Given the description of an element on the screen output the (x, y) to click on. 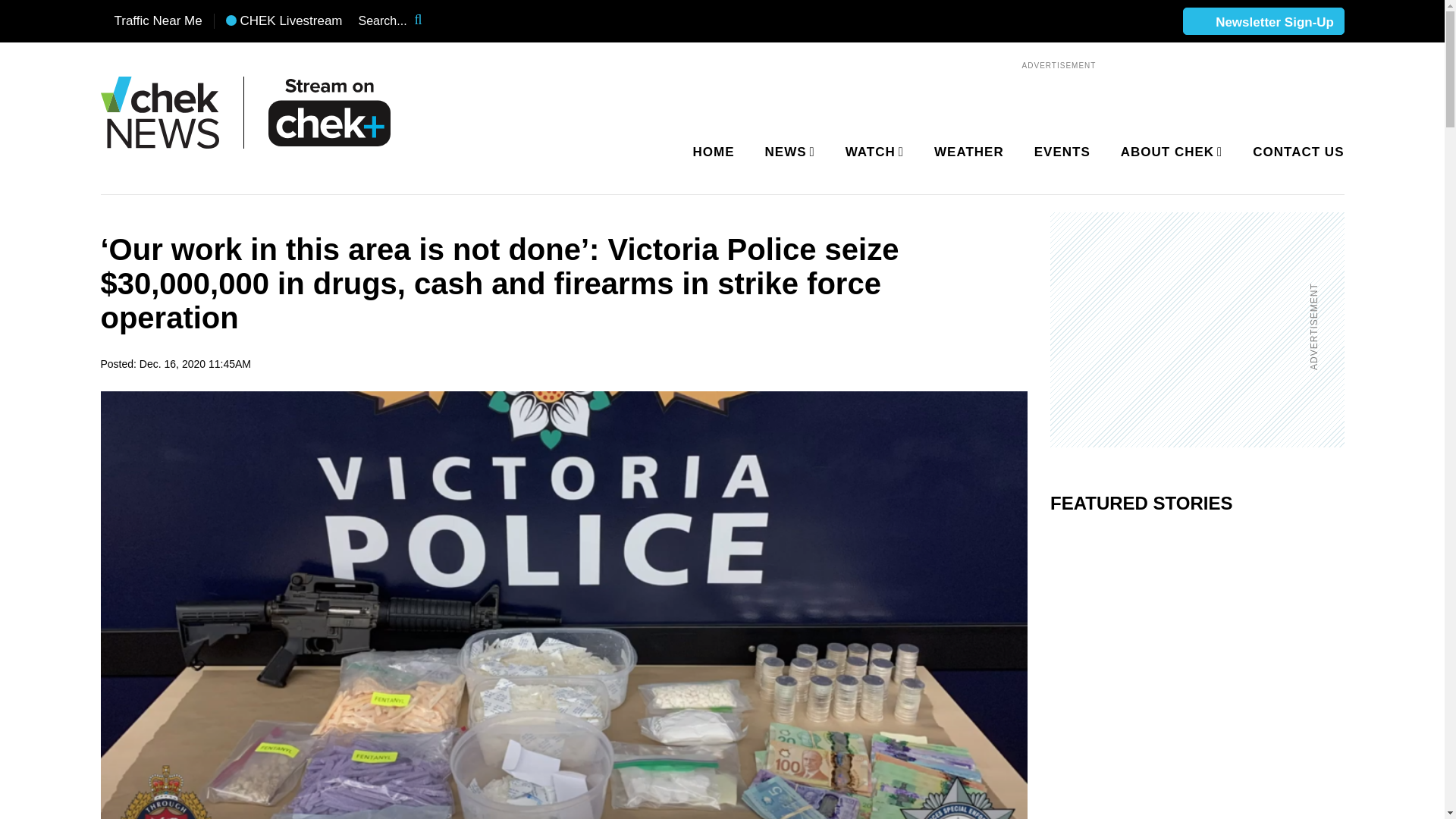
Search (428, 21)
NEWS (787, 152)
CHEK Livestream (283, 20)
Newsletter Sign-Up (1262, 22)
Traffic Near Me (151, 20)
HOME (714, 152)
